Given the description of an element on the screen output the (x, y) to click on. 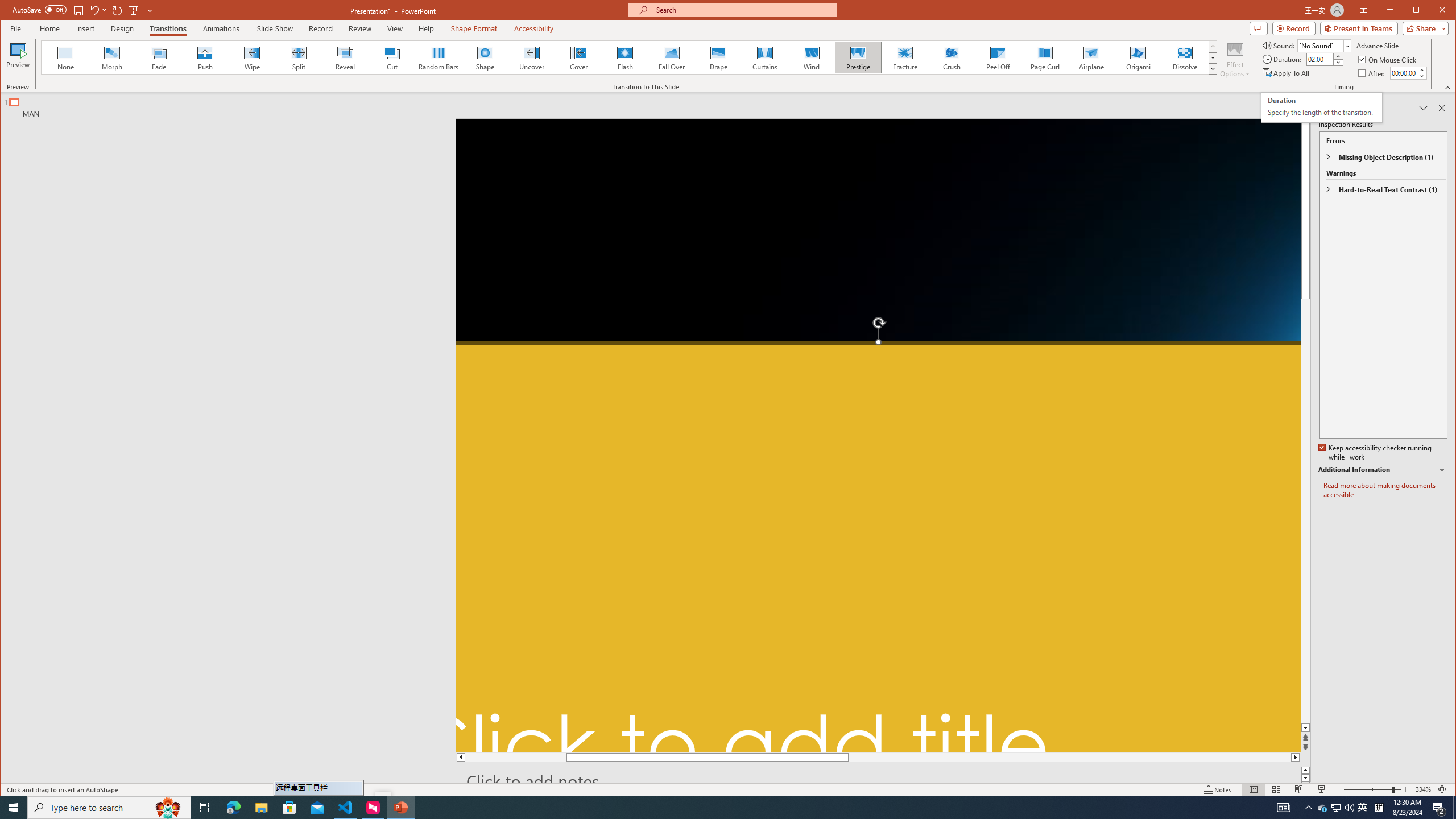
Page Curl (1045, 57)
Neon laser lights aligned to form a triangle (877, 435)
Airplane (1091, 57)
Duration (1320, 59)
